Given the description of an element on the screen output the (x, y) to click on. 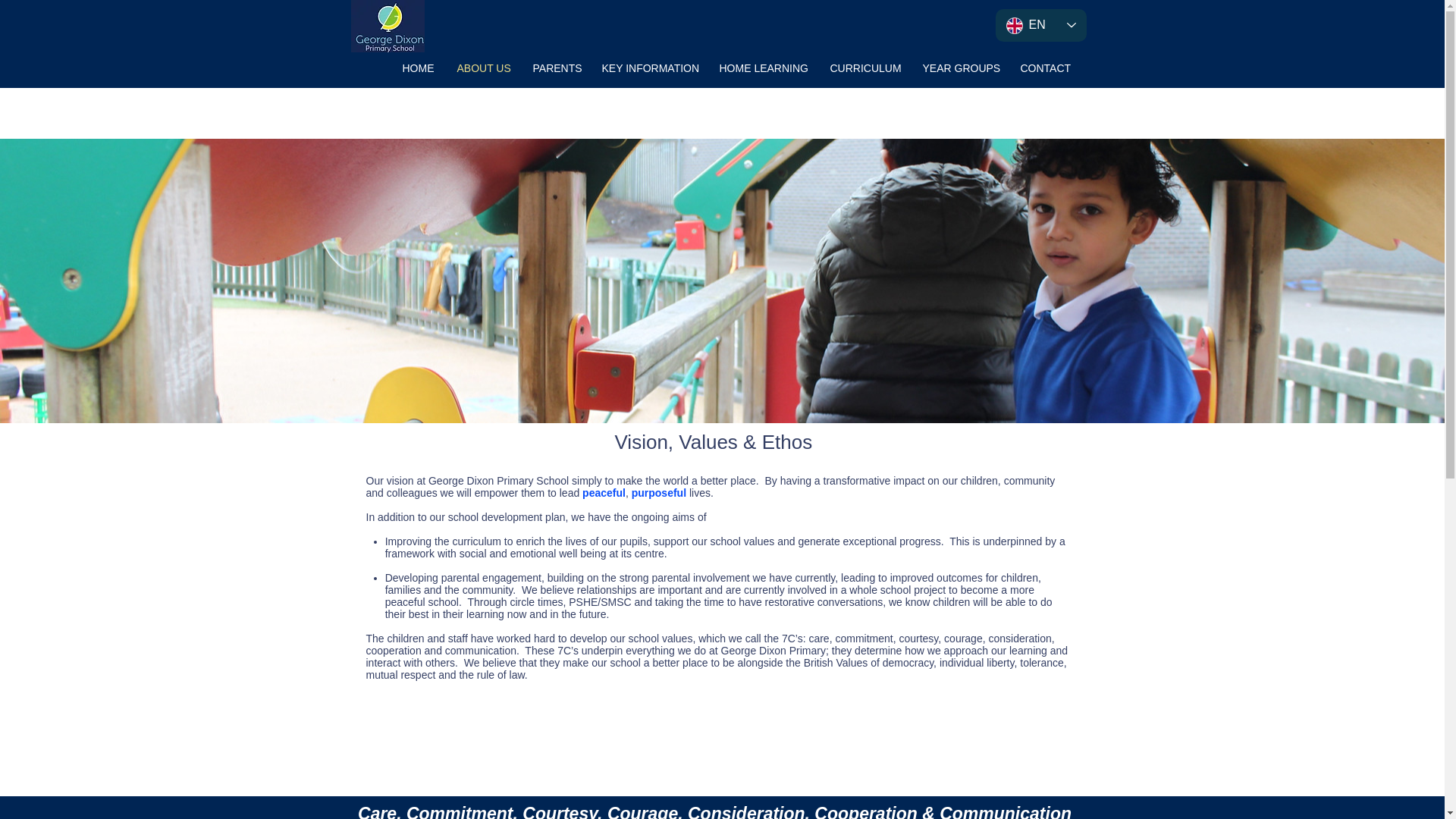
PARENTS (556, 67)
ABOUT US (483, 67)
CURRICULUM (864, 67)
HOME (418, 67)
HOME LEARNING (762, 67)
KEY INFORMATION (648, 67)
